Given the description of an element on the screen output the (x, y) to click on. 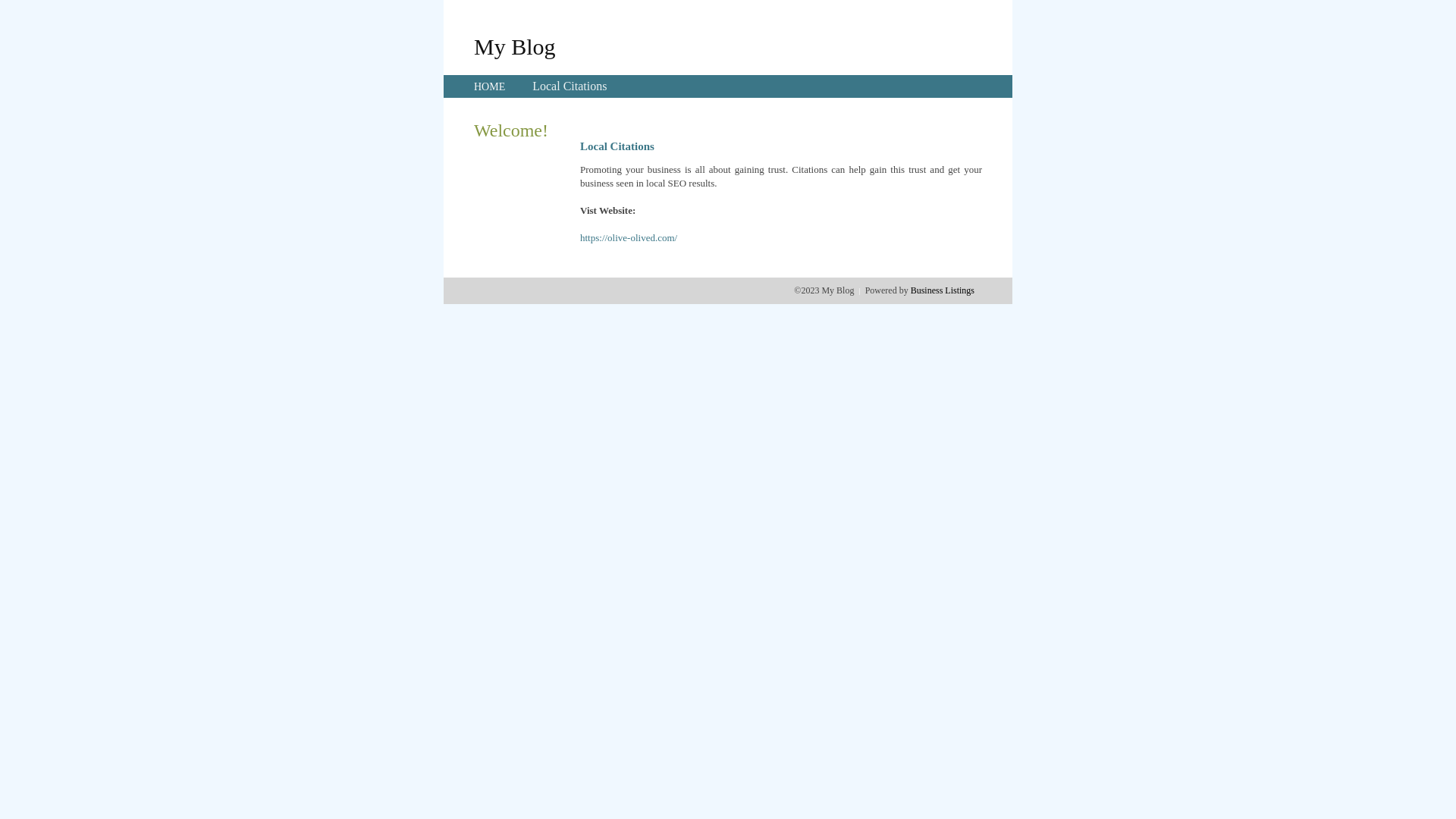
My Blog Element type: text (514, 46)
Local Citations Element type: text (569, 85)
Business Listings Element type: text (942, 290)
https://olive-olived.com/ Element type: text (628, 237)
HOME Element type: text (489, 86)
